Given the description of an element on the screen output the (x, y) to click on. 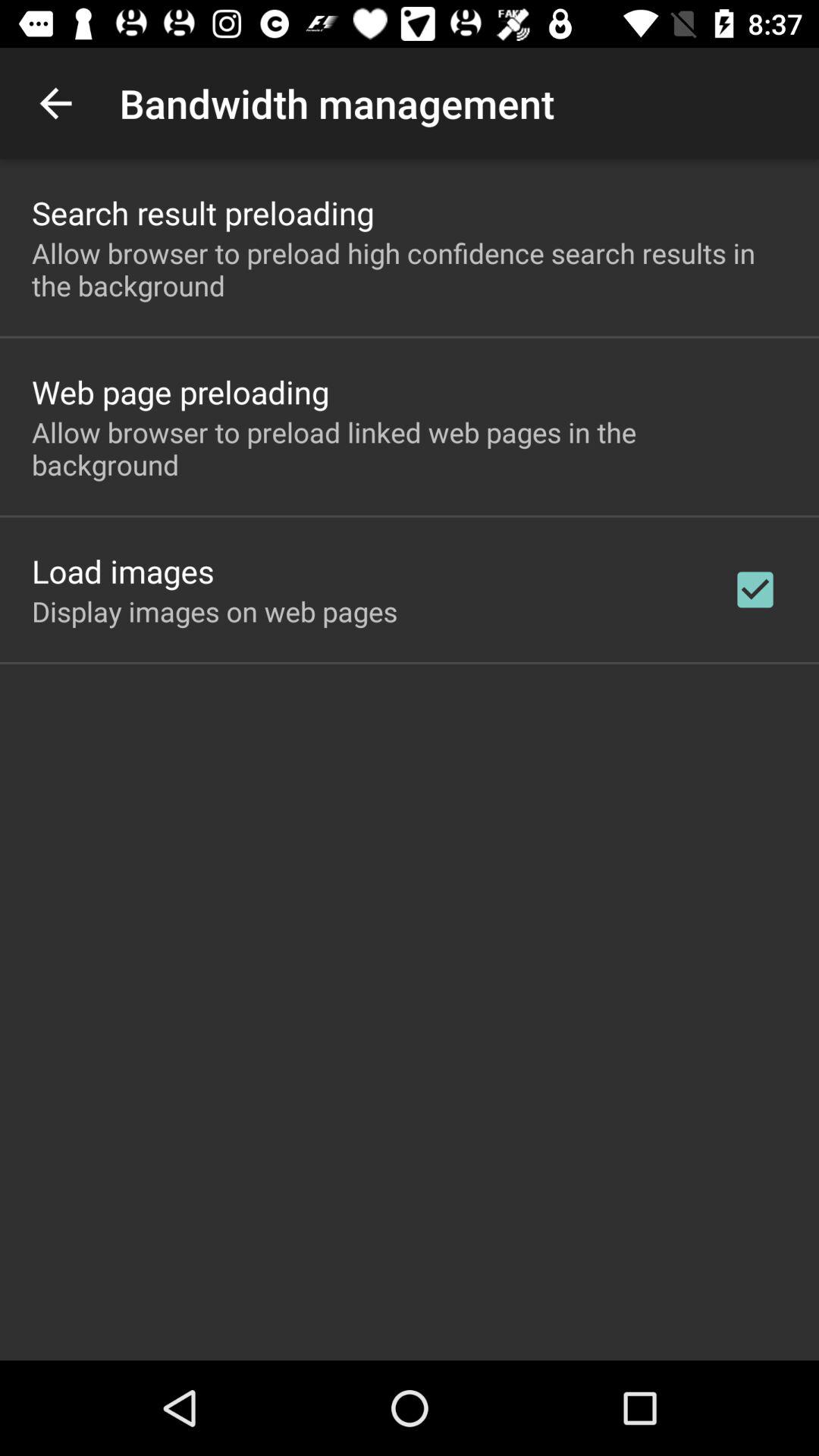
select load images app (122, 570)
